Given the description of an element on the screen output the (x, y) to click on. 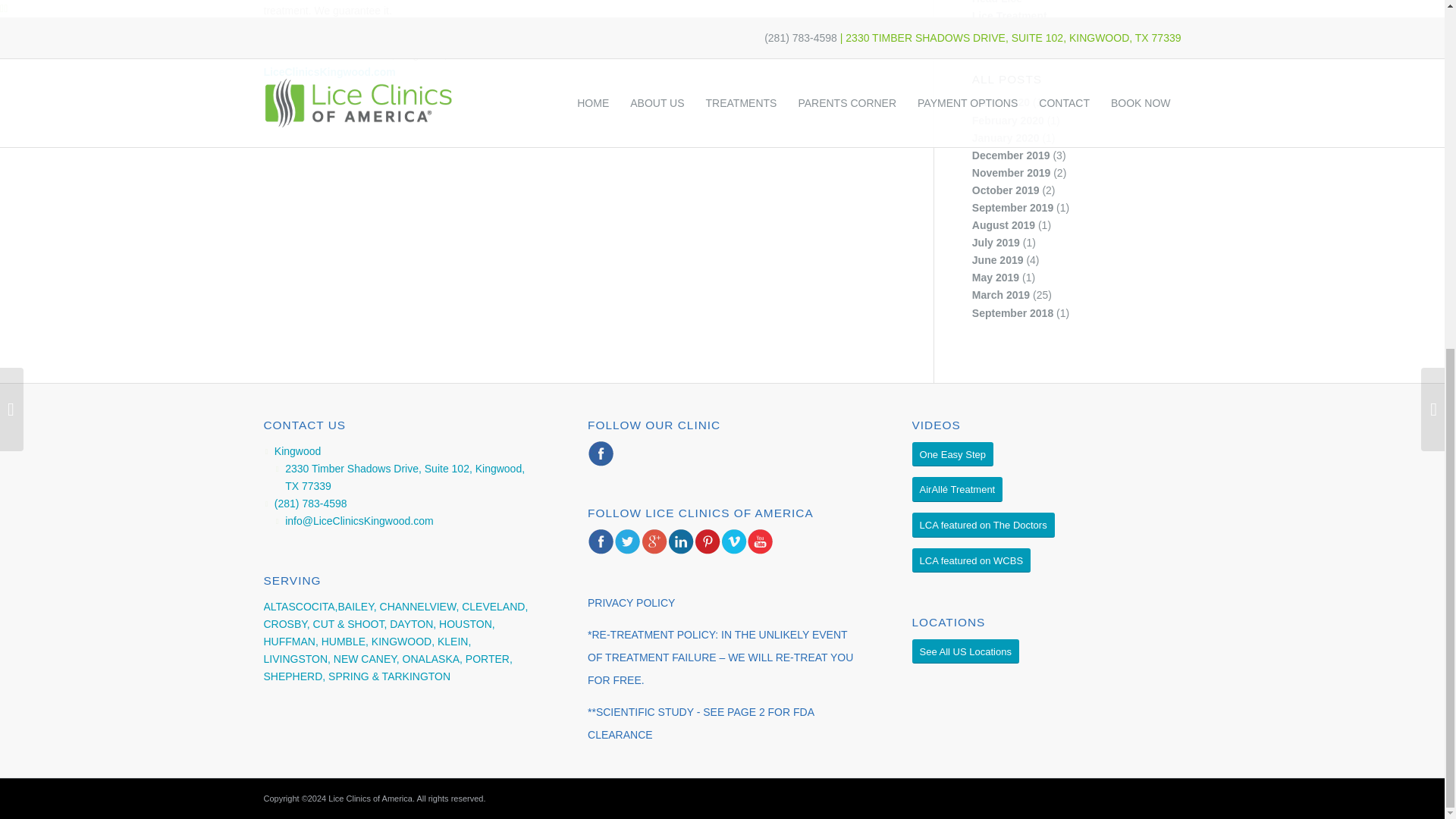
Lice Treatment (1009, 15)
February 2020 (1007, 120)
Head Lice (997, 2)
March 2020 (1000, 102)
LiceClinicsKingwood.com (329, 71)
